Given the description of an element on the screen output the (x, y) to click on. 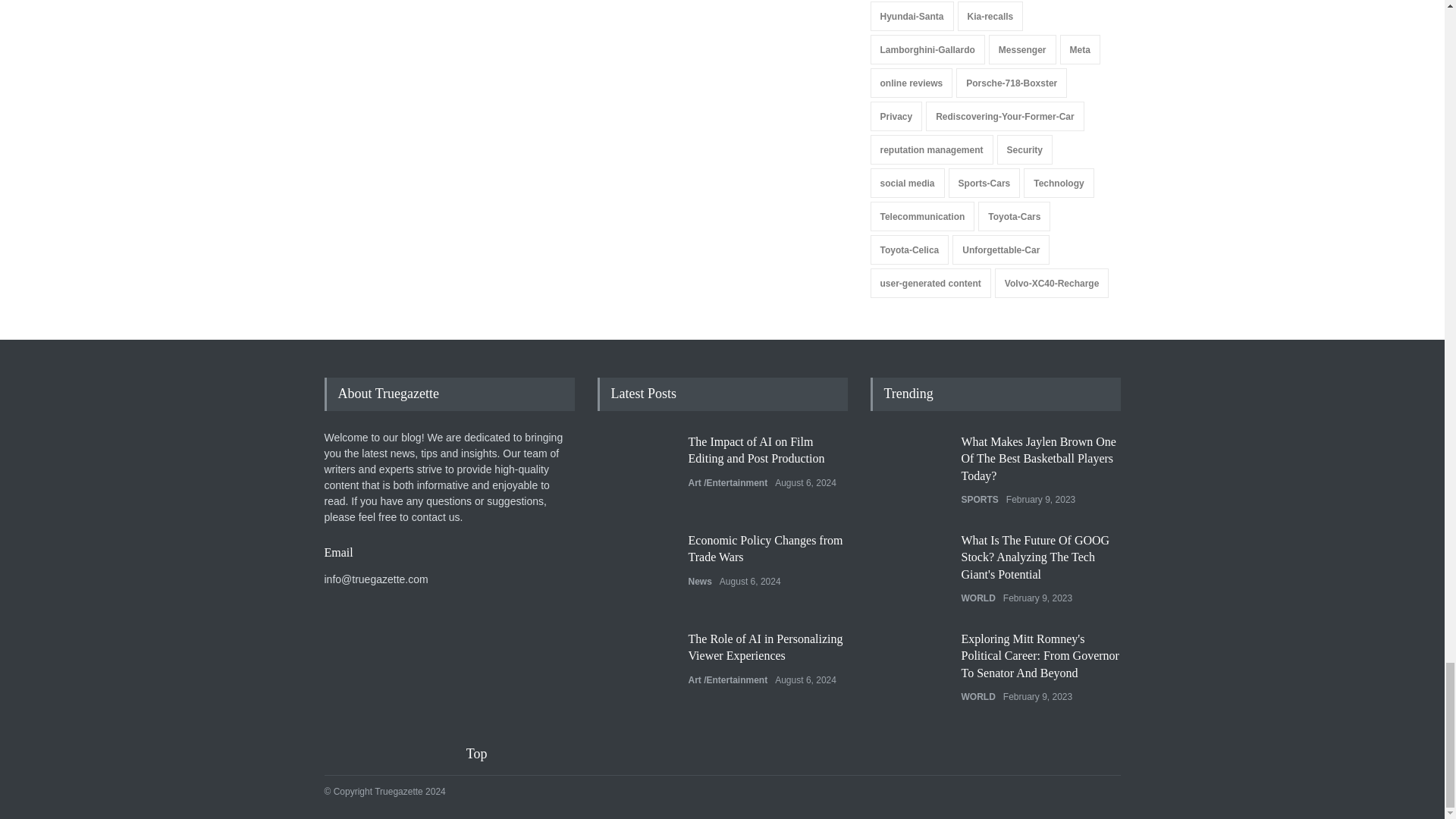
Top (485, 753)
